Given the description of an element on the screen output the (x, y) to click on. 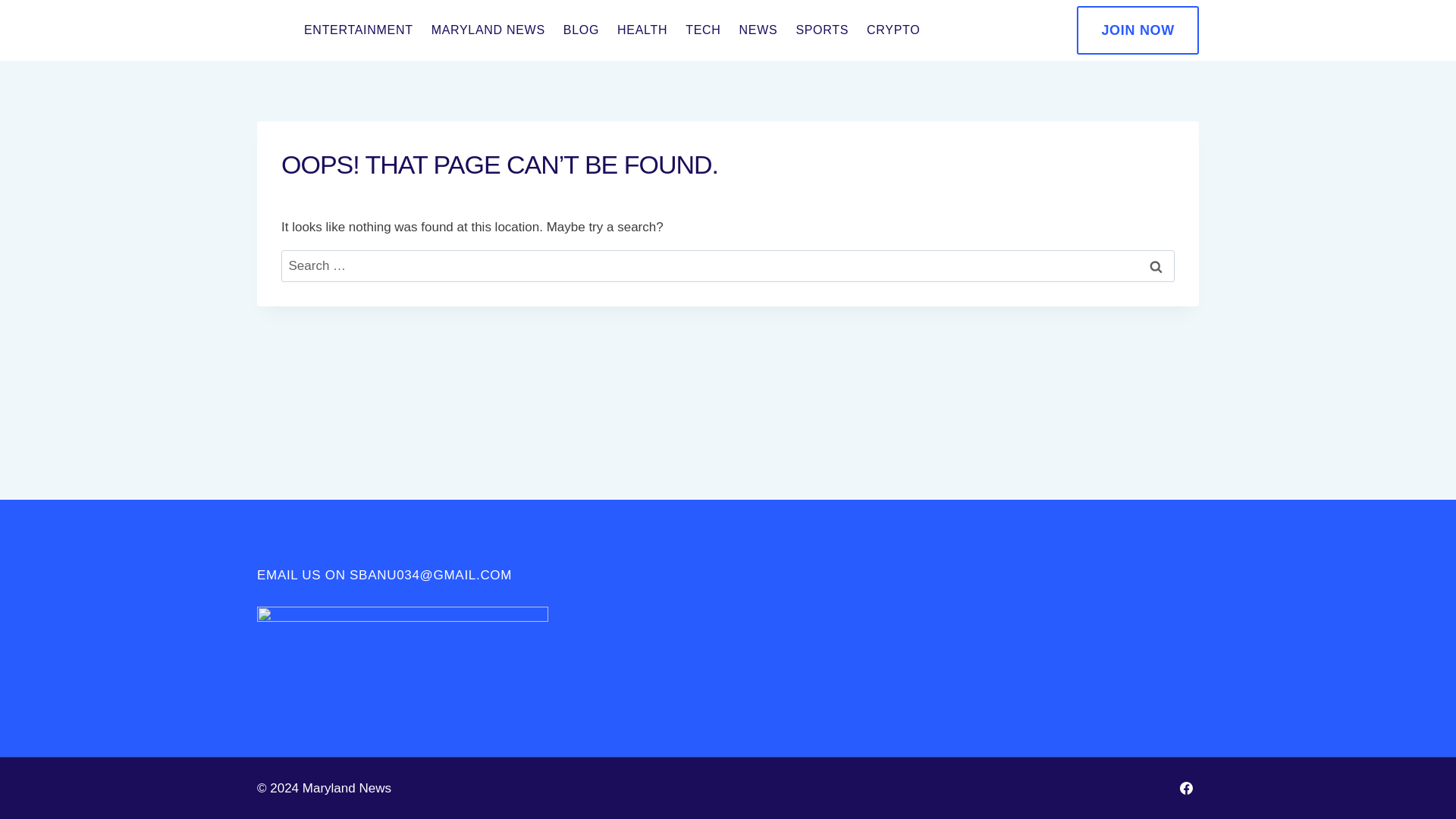
Search (1155, 266)
SPORTS (821, 30)
Search (1155, 266)
MARYLAND NEWS (488, 30)
NEWS (758, 30)
Search (1155, 266)
BLOG (581, 30)
JOIN NOW (1137, 30)
HEALTH (642, 30)
ENTERTAINMENT (358, 30)
CRYPTO (892, 30)
TECH (703, 30)
